Given the description of an element on the screen output the (x, y) to click on. 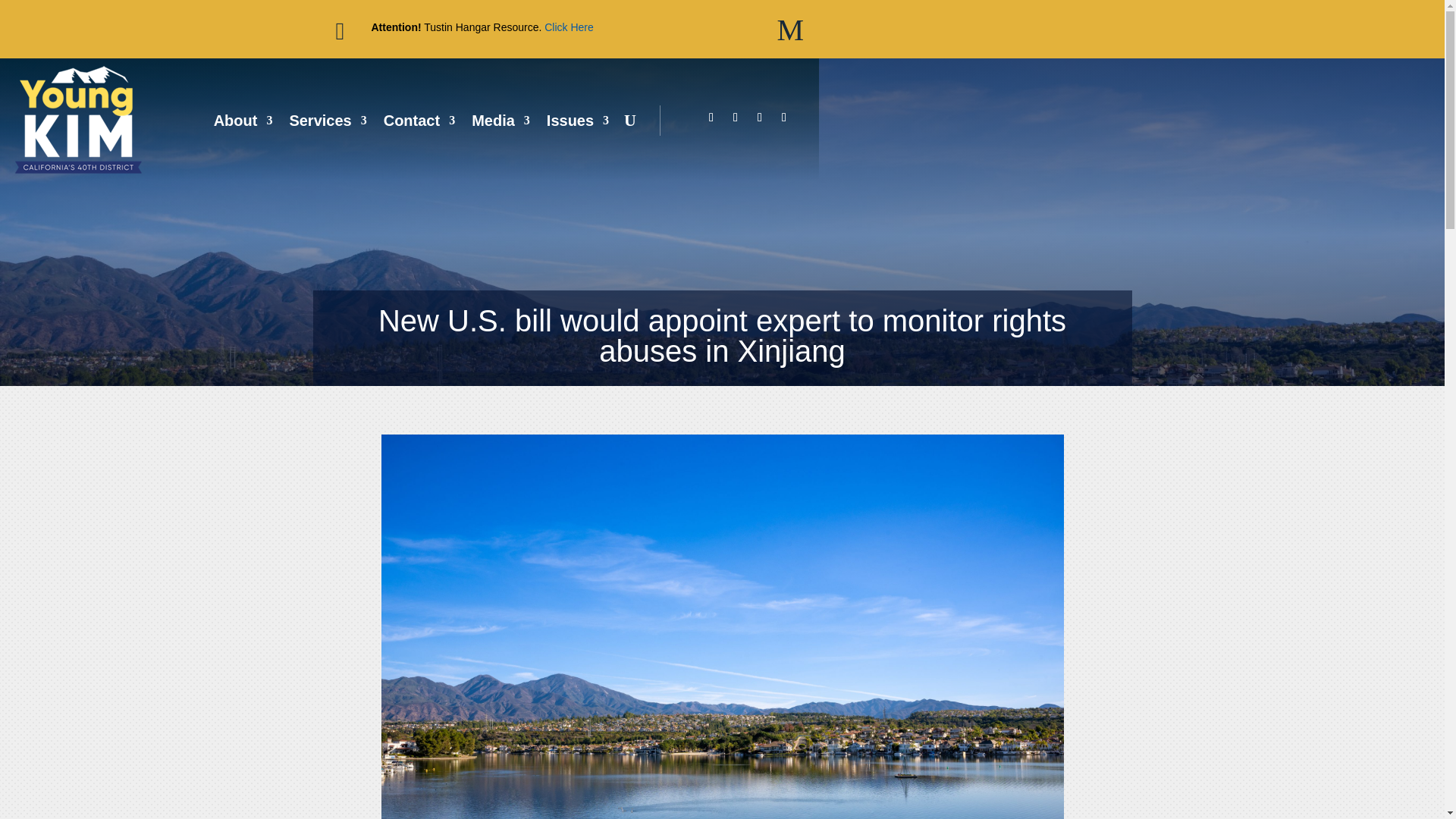
Follow on Instagram (759, 116)
Follow on Youtube (783, 116)
Click Here (569, 27)
Media (500, 120)
About (243, 120)
Follow on Facebook (710, 116)
Follow on X (735, 116)
Contact (419, 120)
Services (327, 120)
